Given the description of an element on the screen output the (x, y) to click on. 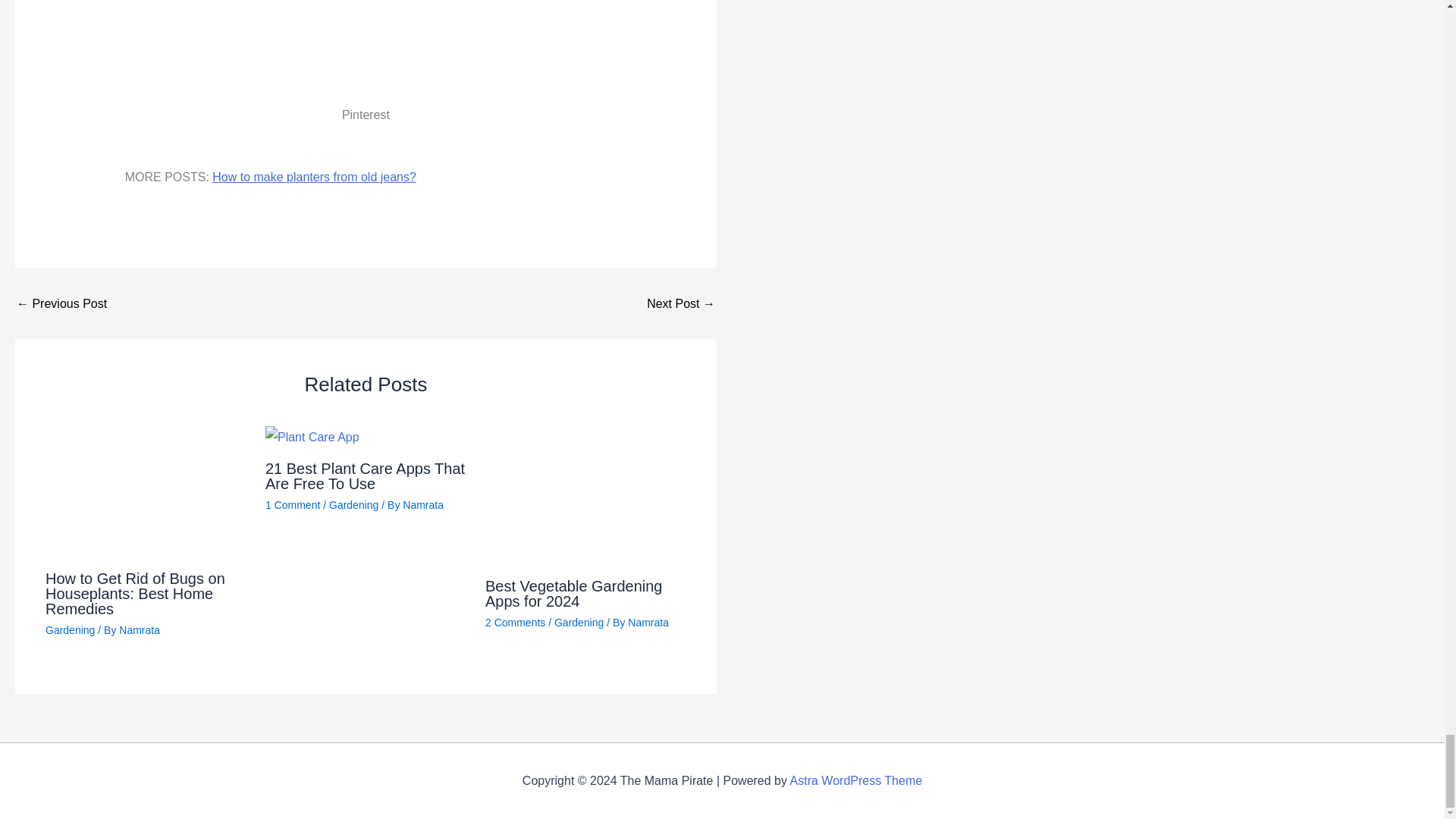
View all posts by Namrata (647, 622)
View all posts by Namrata (139, 630)
How Long Does Liquid Fertilizer Last in Soil? (680, 304)
How to make planters from old jeans? (61, 304)
View all posts by Namrata (423, 504)
